Given the description of an element on the screen output the (x, y) to click on. 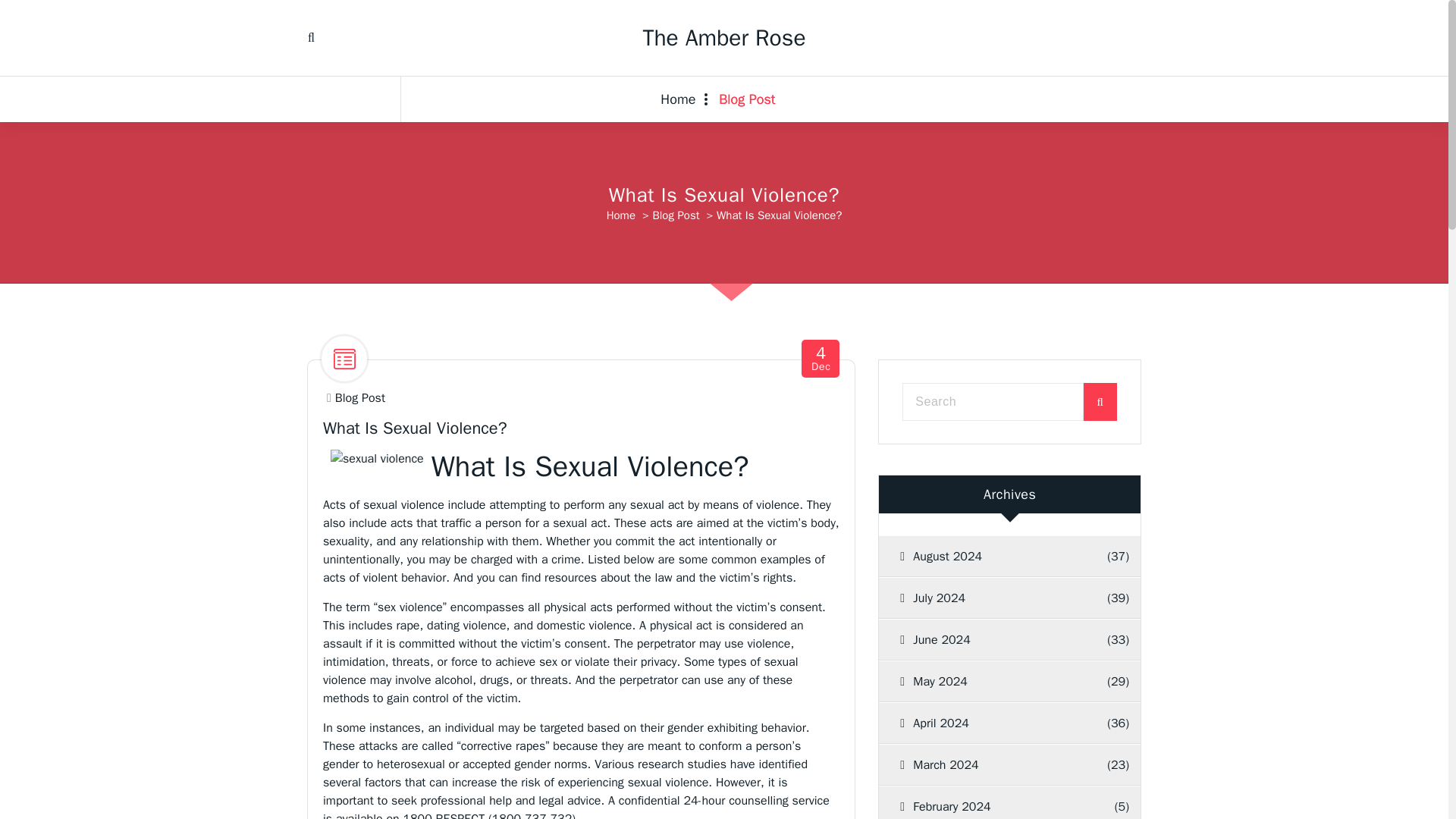
Blog Post (675, 214)
Blog Post (359, 398)
June 2024 (991, 639)
Blog Post (746, 99)
August 2024 (991, 556)
Home (684, 99)
May 2024 (991, 680)
April 2024 (991, 722)
March 2024 (991, 764)
